Given the description of an element on the screen output the (x, y) to click on. 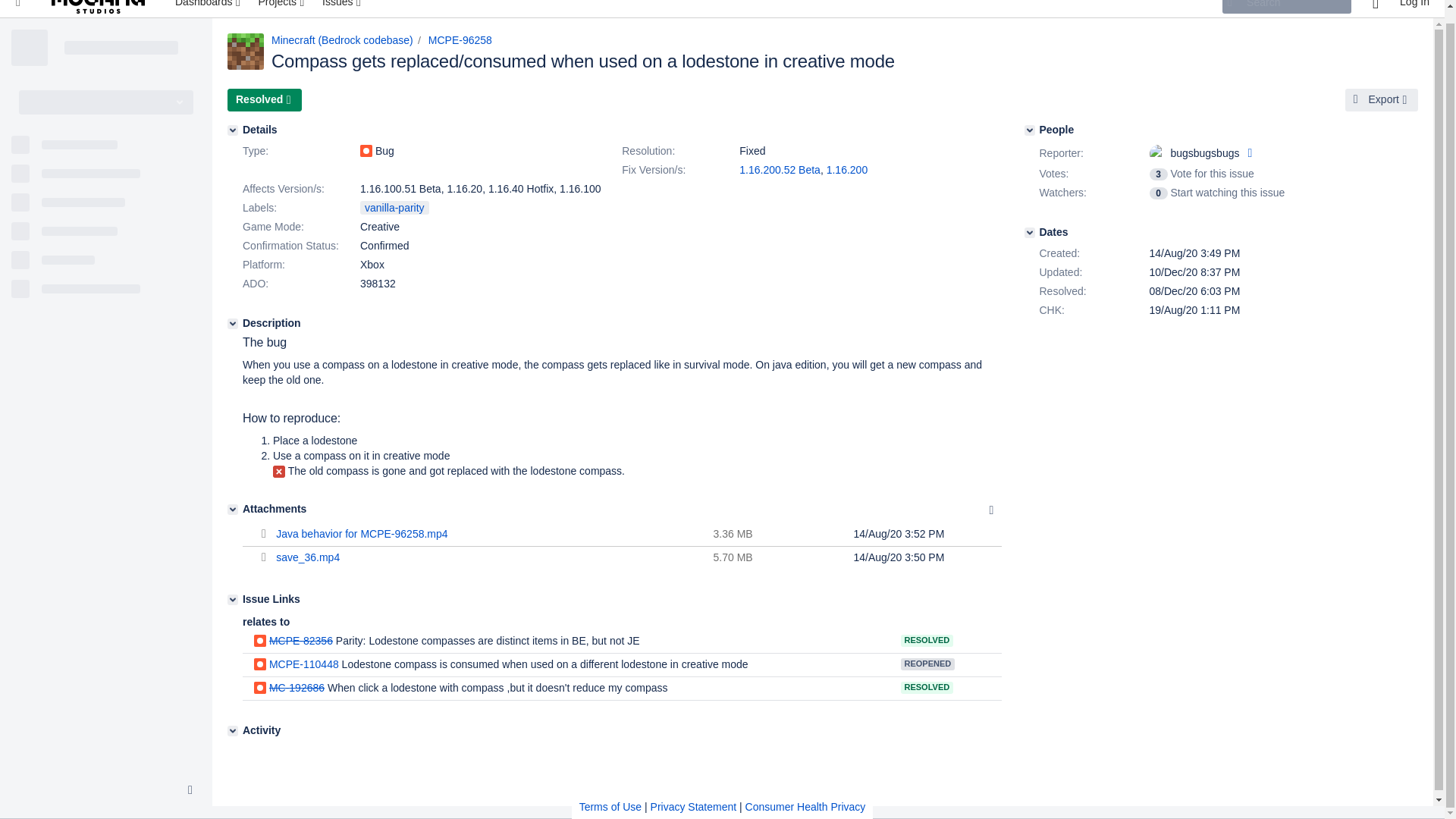
Consumer Health Privacy (805, 793)
Options (991, 510)
Projects (282, 8)
Terms of Use (610, 793)
Help (1374, 8)
Export (1381, 99)
Log In (1414, 8)
View recent projects and browse a list of projects (282, 8)
Privacy Statement (693, 793)
Attachments (232, 509)
